Given the description of an element on the screen output the (x, y) to click on. 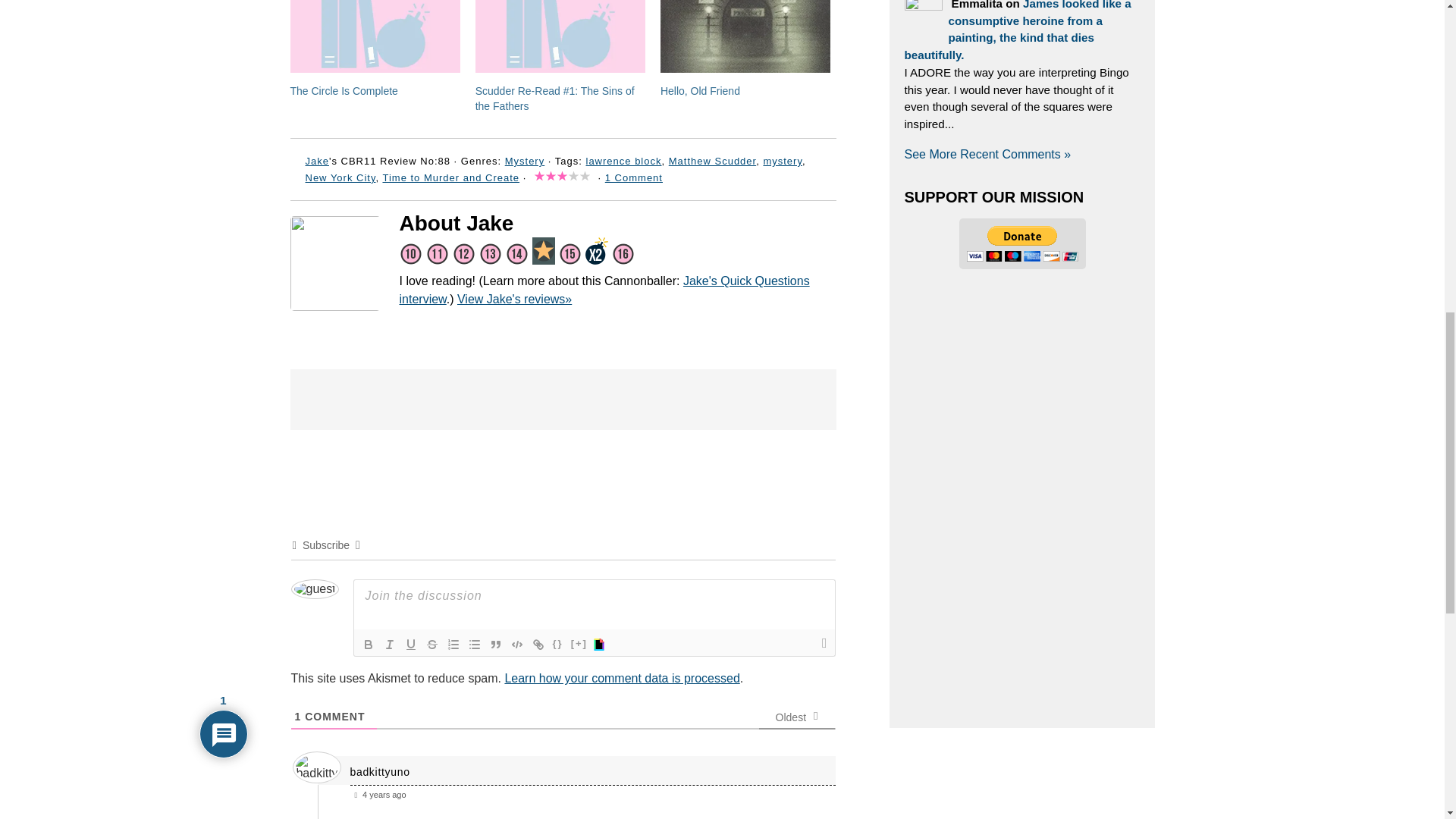
The Circle Is Complete (343, 91)
Hello, Old Friend (745, 36)
The Circle Is Complete (374, 36)
3 out of 5 stars (562, 177)
Hello, Old Friend (700, 91)
